Given the description of an element on the screen output the (x, y) to click on. 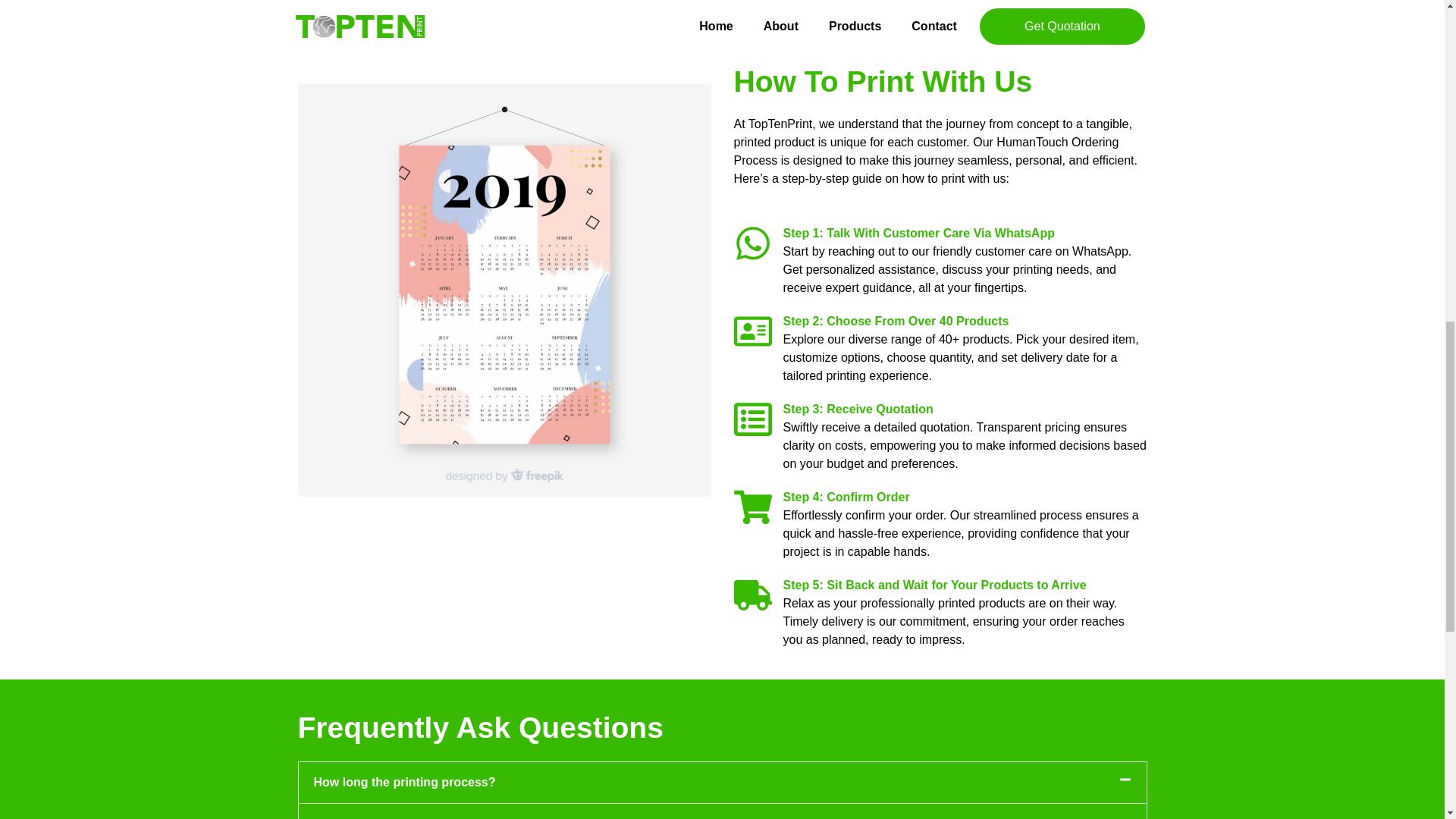
Get Quotation (797, 5)
